Given the description of an element on the screen output the (x, y) to click on. 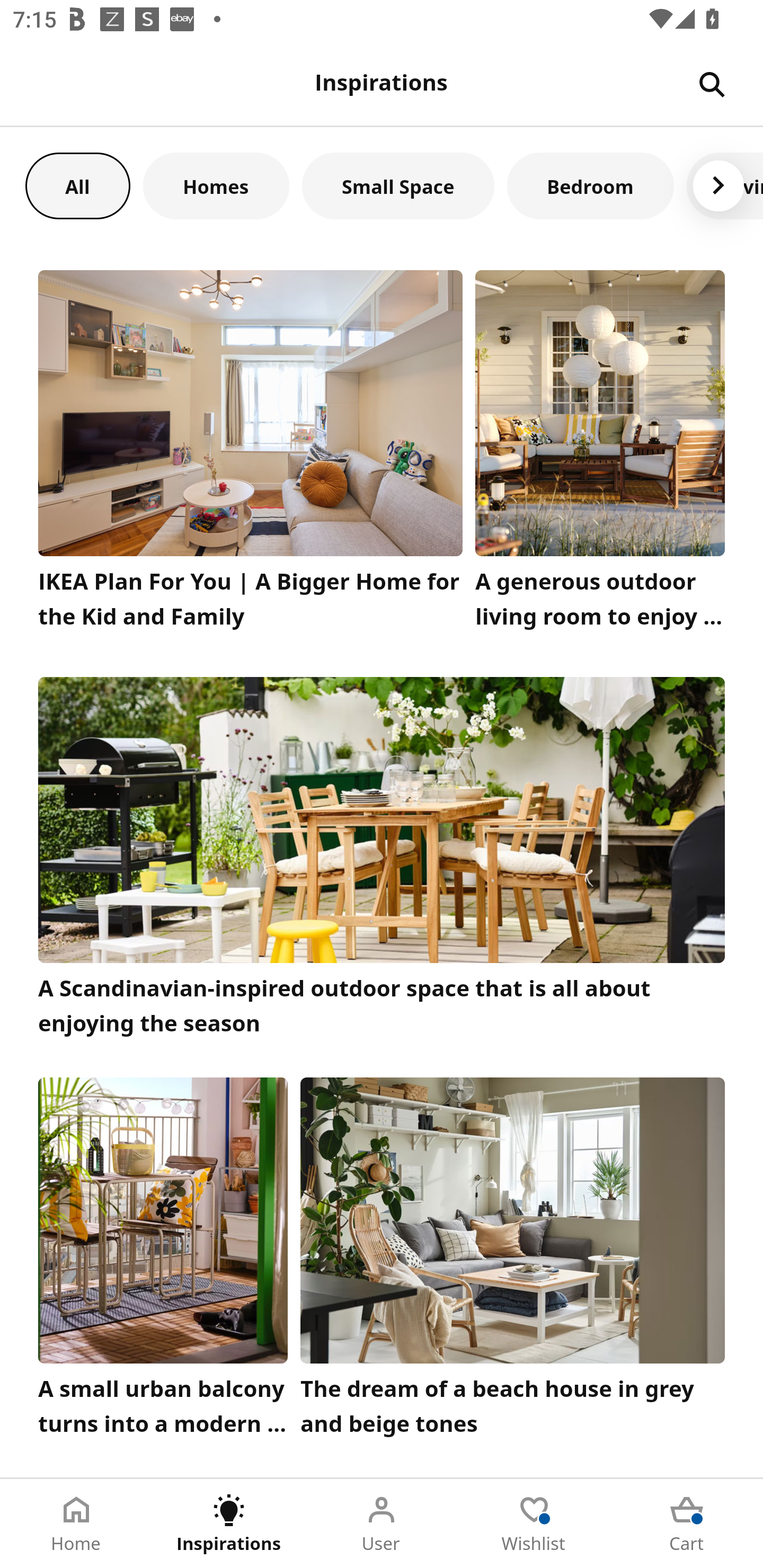
All (77, 185)
Homes (216, 185)
Small Space (398, 185)
Bedroom (590, 185)
The dream of a beach house in grey and beige tones (512, 1261)
Home
Tab 1 of 5 (76, 1522)
Inspirations
Tab 2 of 5 (228, 1522)
User
Tab 3 of 5 (381, 1522)
Wishlist
Tab 4 of 5 (533, 1522)
Cart
Tab 5 of 5 (686, 1522)
